Given the description of an element on the screen output the (x, y) to click on. 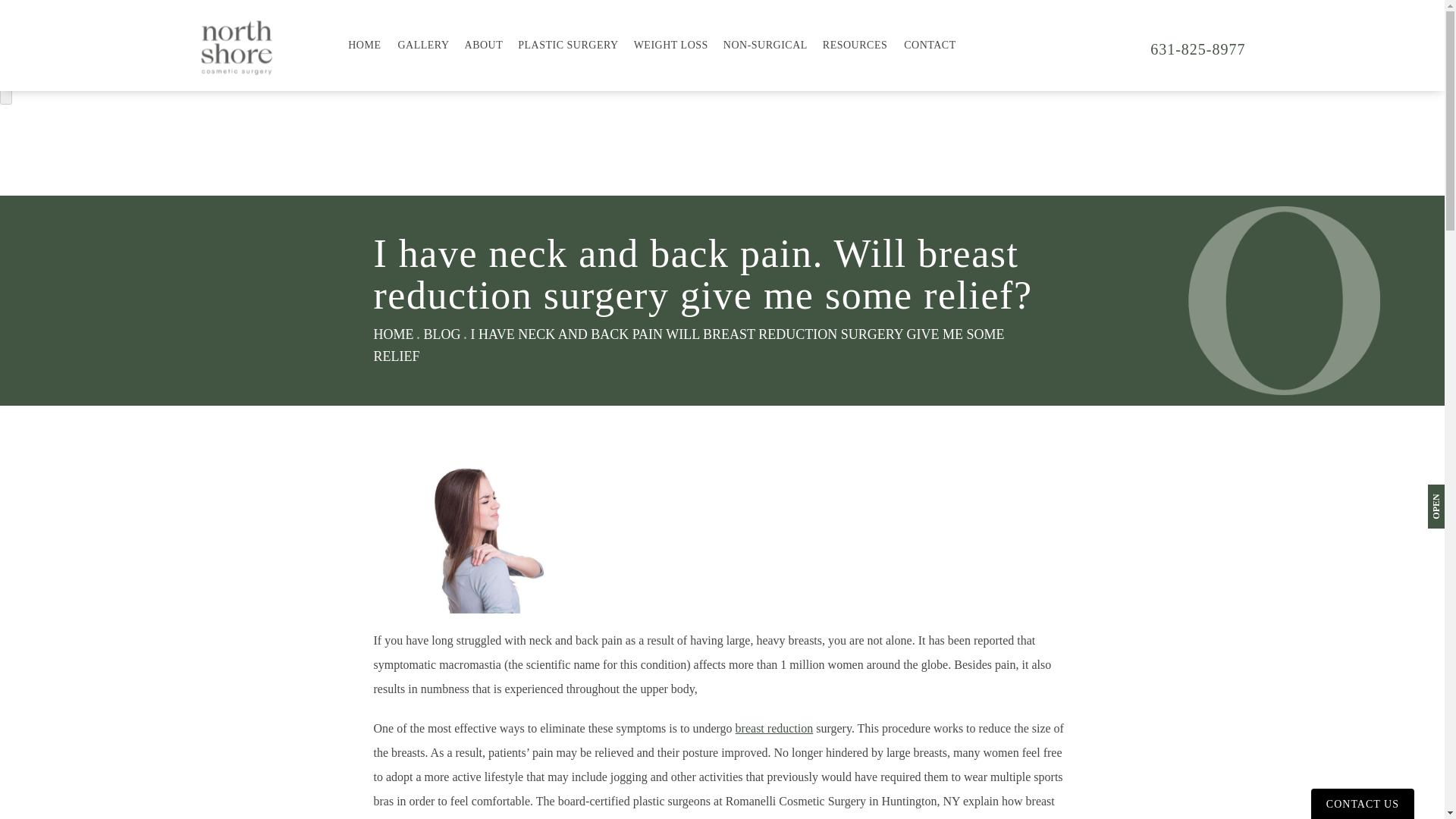
ABOUT (484, 45)
HOME (364, 45)
GALLERY (423, 45)
PLASTIC SURGERY (568, 45)
